Given the description of an element on the screen output the (x, y) to click on. 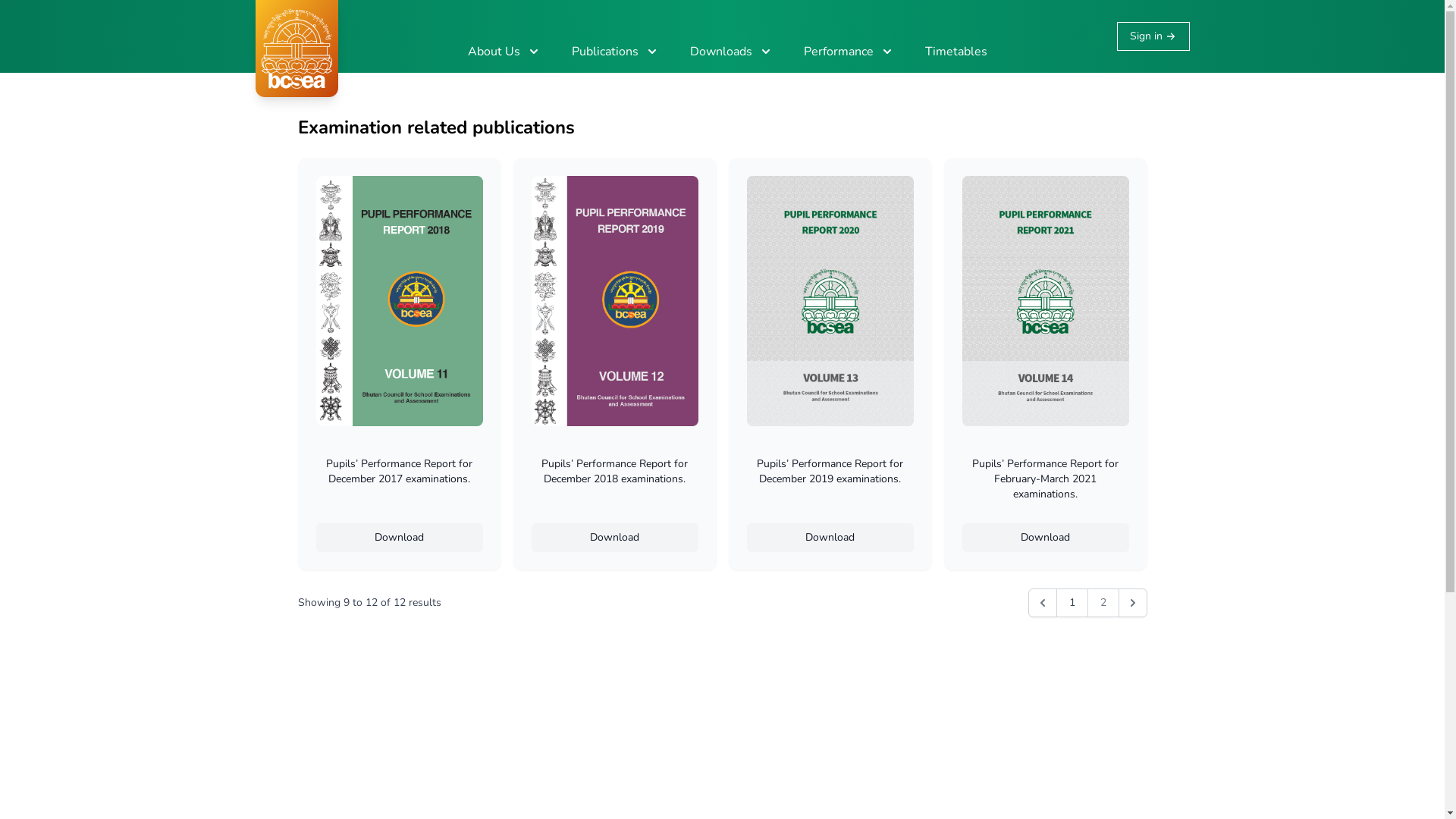
Downloads Element type: text (731, 51)
Timetables Element type: text (956, 51)
Sign in Element type: text (1152, 35)
About Us Element type: text (504, 51)
Publications Element type: text (615, 51)
Download
Download button Element type: text (1044, 537)
1 Element type: text (1071, 602)
Performance Element type: text (848, 51)
Download
Download button Element type: text (398, 537)
Download
Download button Element type: text (829, 537)
Download
Download button Element type: text (613, 537)
